Given the description of an element on the screen output the (x, y) to click on. 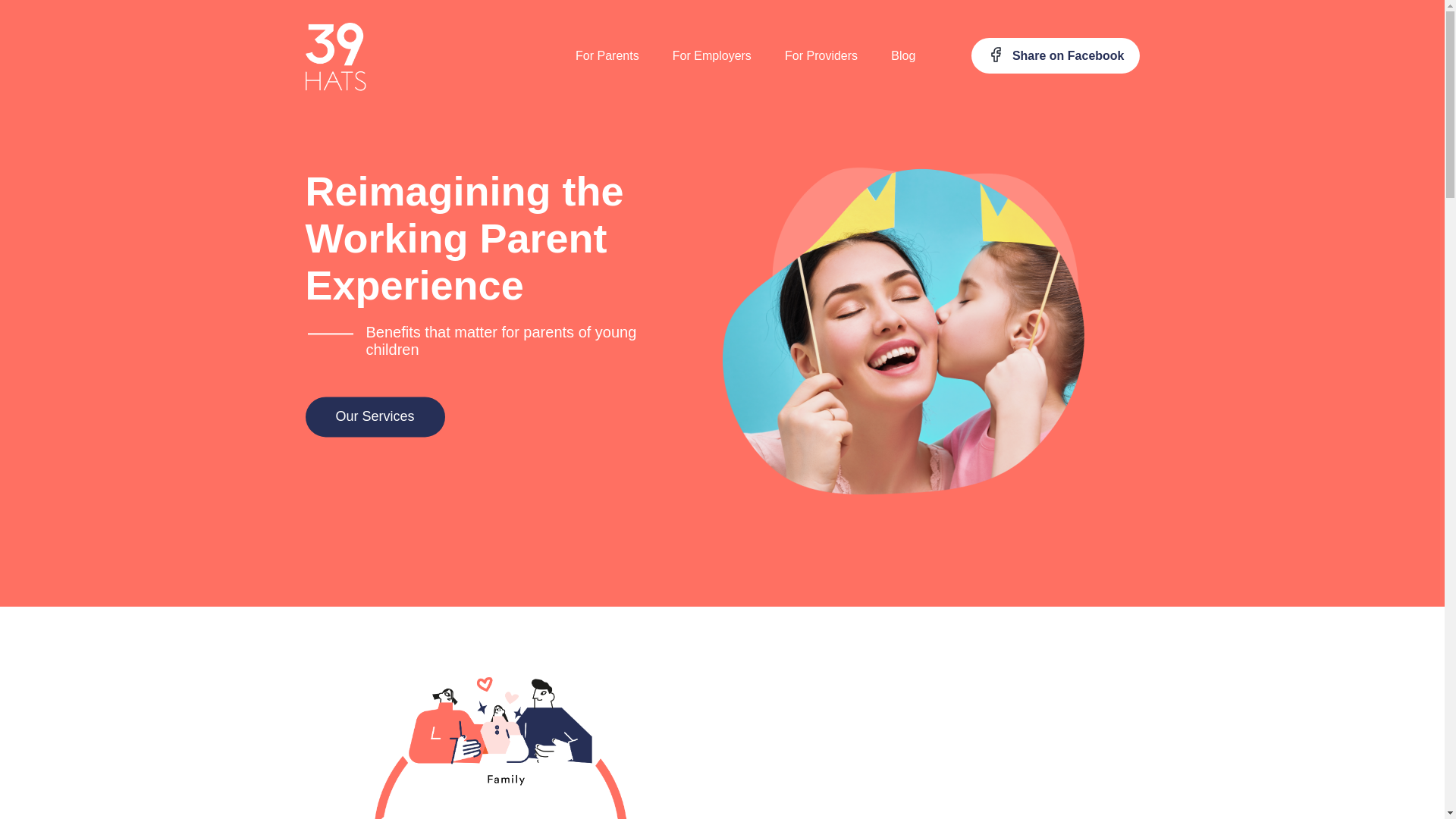
For Parents Element type: text (607, 55)
For Employers Element type: text (711, 55)
Share on Facebook Element type: text (1055, 55)
Blog Element type: text (902, 55)
Our Services Element type: text (374, 416)
For Providers Element type: text (820, 55)
